Given the description of an element on the screen output the (x, y) to click on. 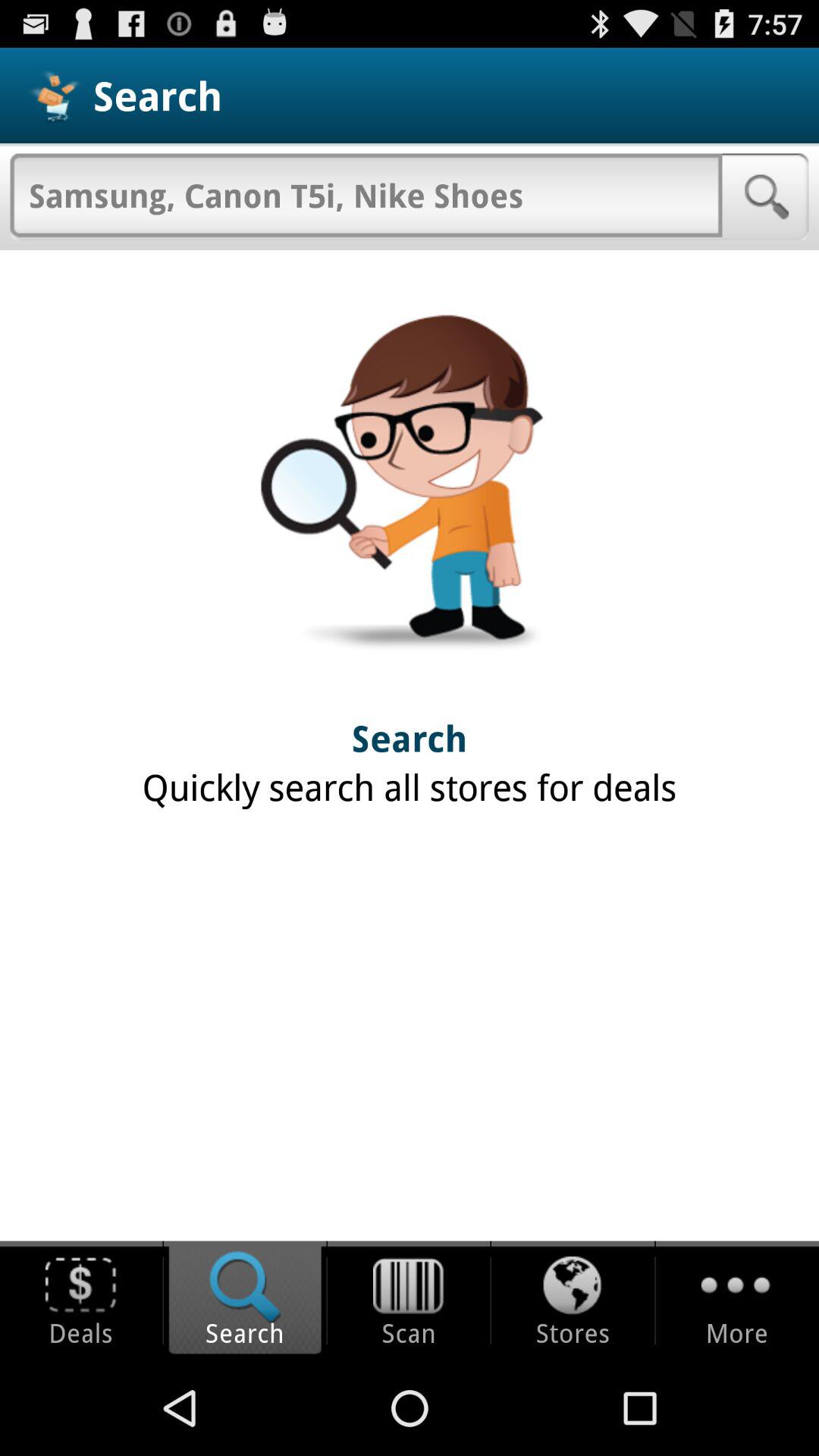
search bar use to search products (366, 195)
